Given the description of an element on the screen output the (x, y) to click on. 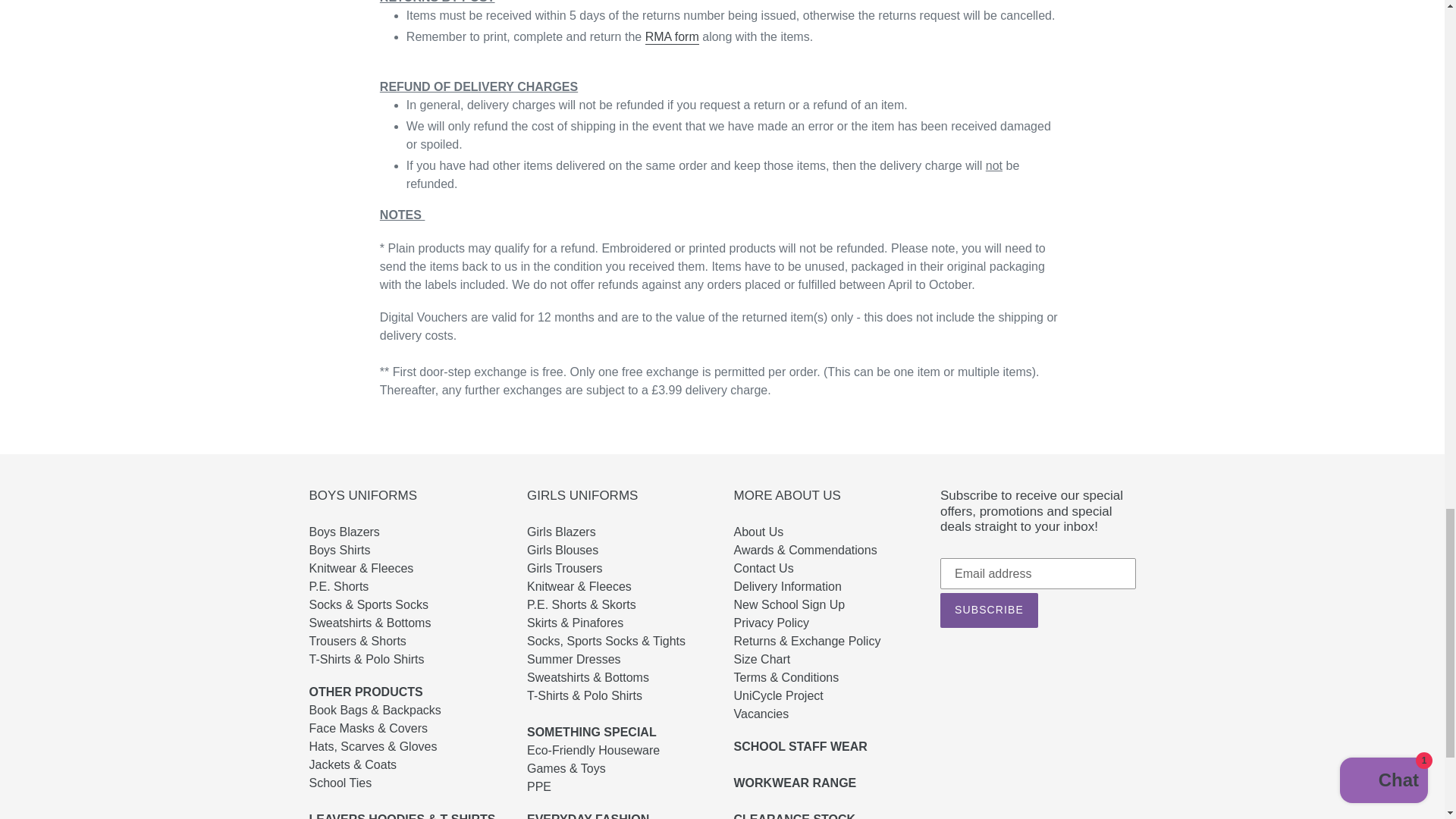
School Ties (352, 791)
